Given the description of an element on the screen output the (x, y) to click on. 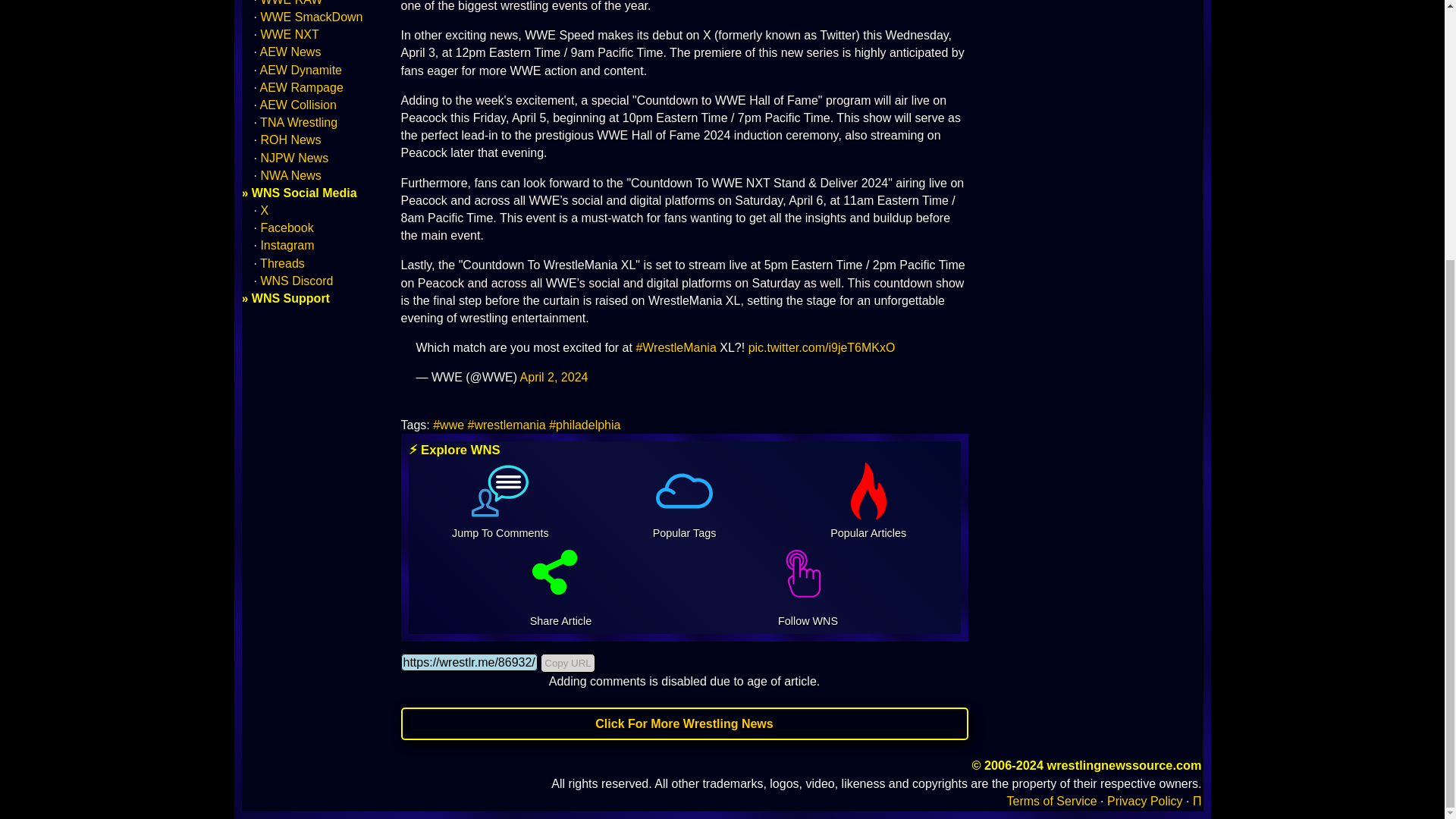
WWE RAW (290, 2)
TNA Wrestling (298, 122)
Instagram (287, 245)
AEW Dynamite (301, 69)
ROH News (290, 139)
Threads (282, 263)
NJPW News (294, 157)
NWA News (290, 174)
AEW Rampage (301, 87)
Facebook (286, 227)
WWE NXT (289, 33)
AEW News (290, 51)
AEW Collision (298, 104)
WWE SmackDown (311, 16)
